Given the description of an element on the screen output the (x, y) to click on. 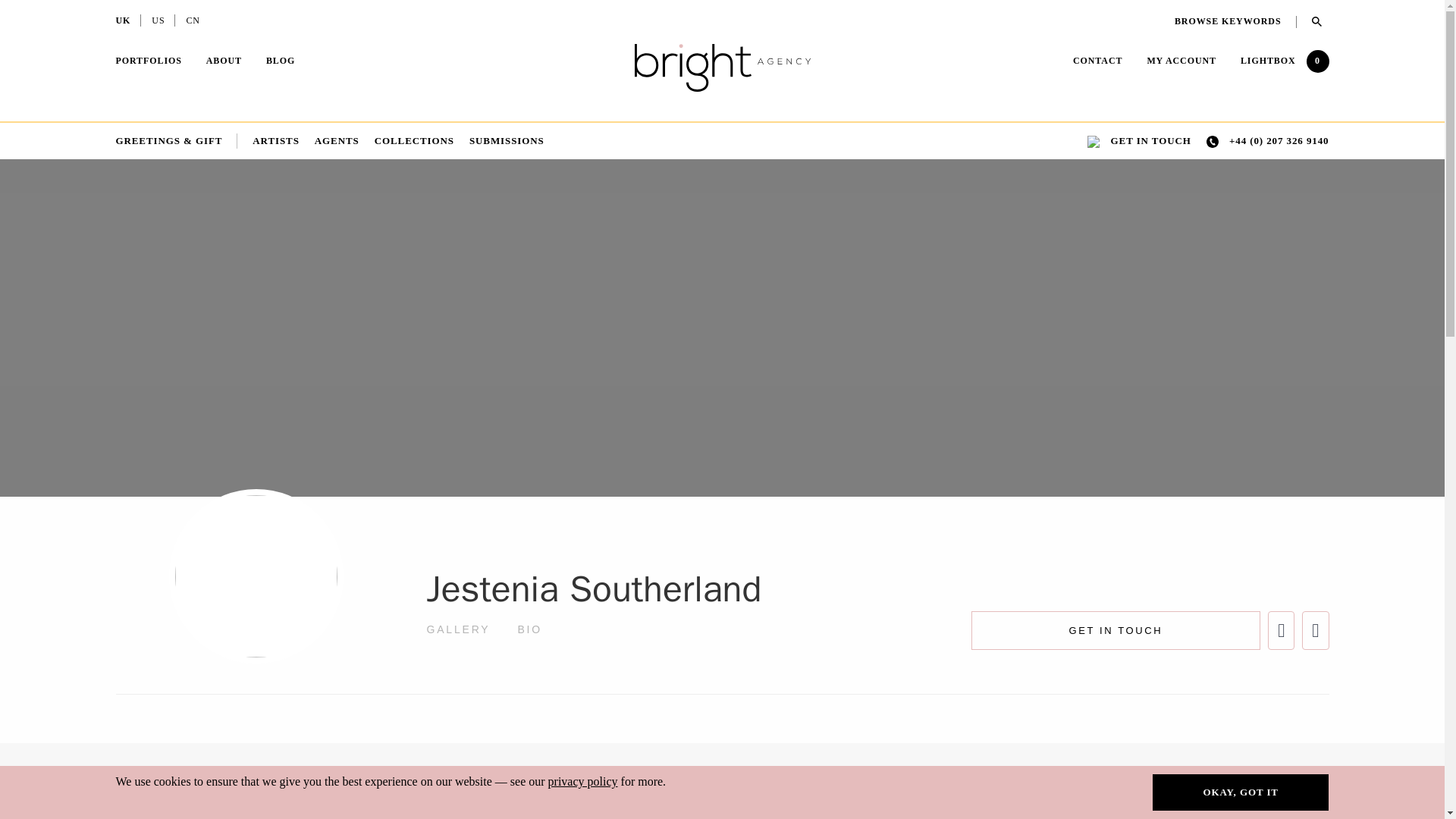
ABOUT (223, 62)
US (157, 22)
MY ACCOUNT (1181, 60)
BLOG (280, 60)
CONTACT (1097, 62)
UK (123, 22)
BROWSE KEYWORDS (1235, 21)
CN (192, 22)
PORTFOLIOS (147, 62)
